Given the description of an element on the screen output the (x, y) to click on. 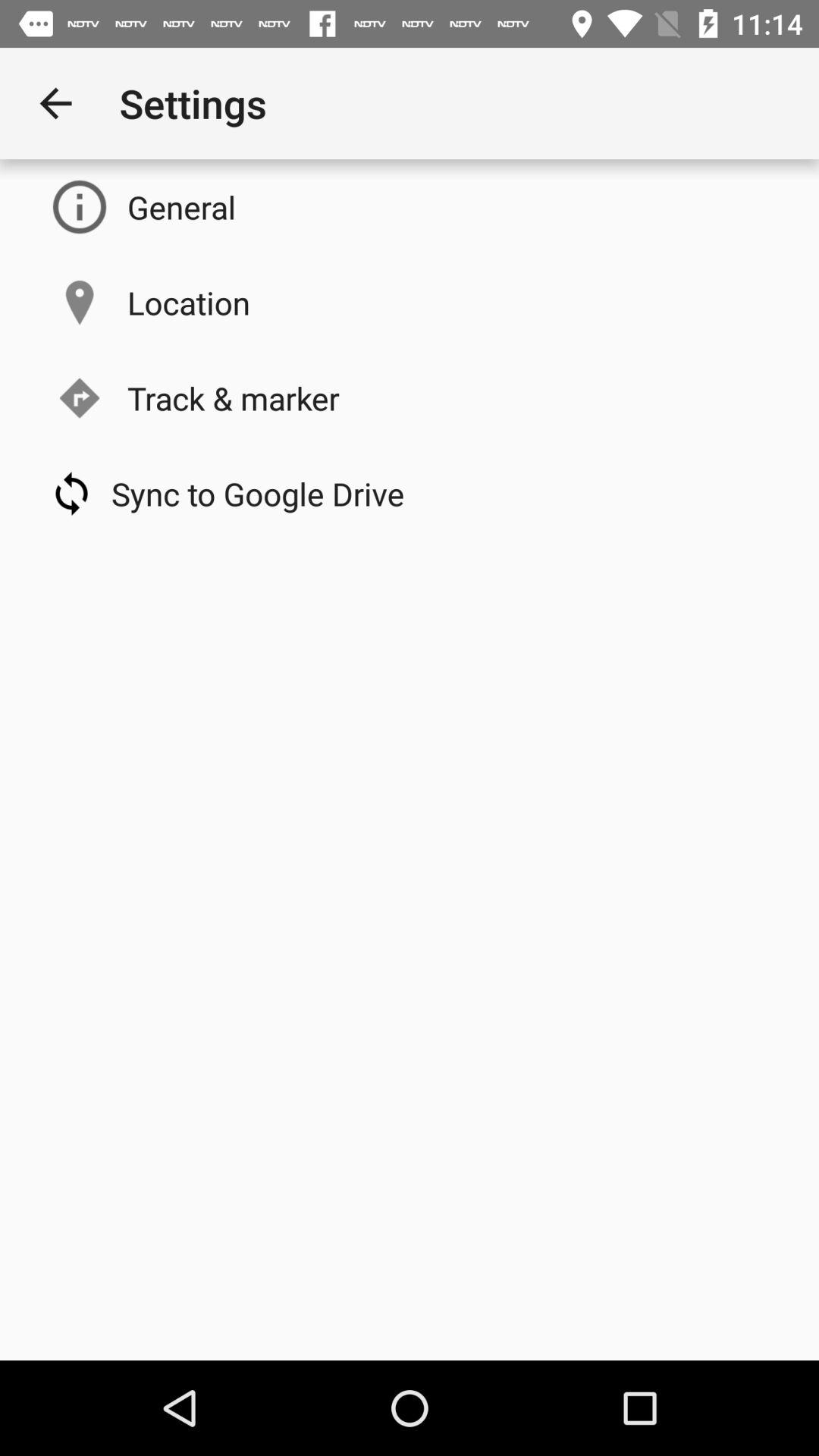
choose track & marker icon (233, 397)
